Given the description of an element on the screen output the (x, y) to click on. 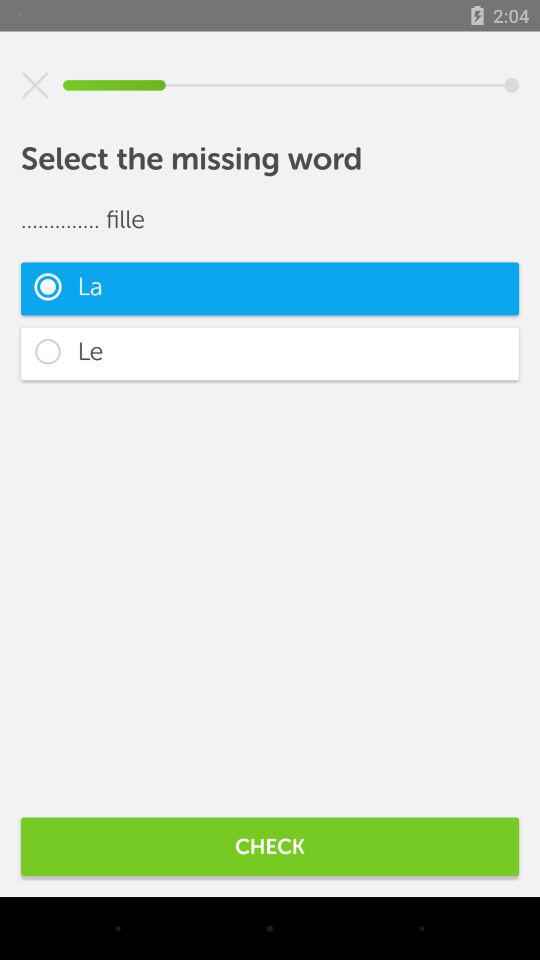
click le at the center (270, 353)
